Given the description of an element on the screen output the (x, y) to click on. 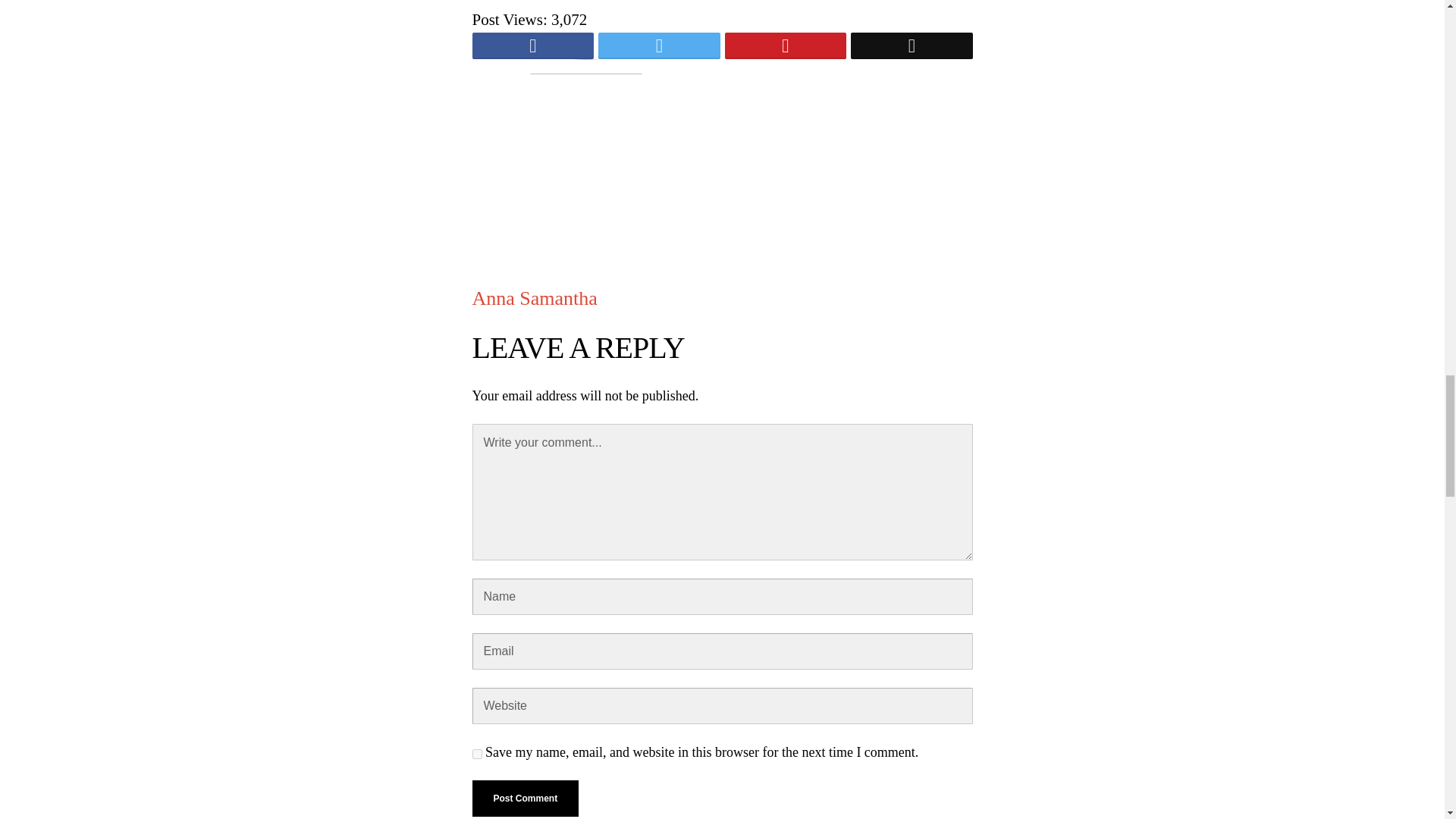
yes (476, 754)
Post Comment (524, 798)
Post Comment (524, 798)
Anna Samantha (533, 298)
